Given the description of an element on the screen output the (x, y) to click on. 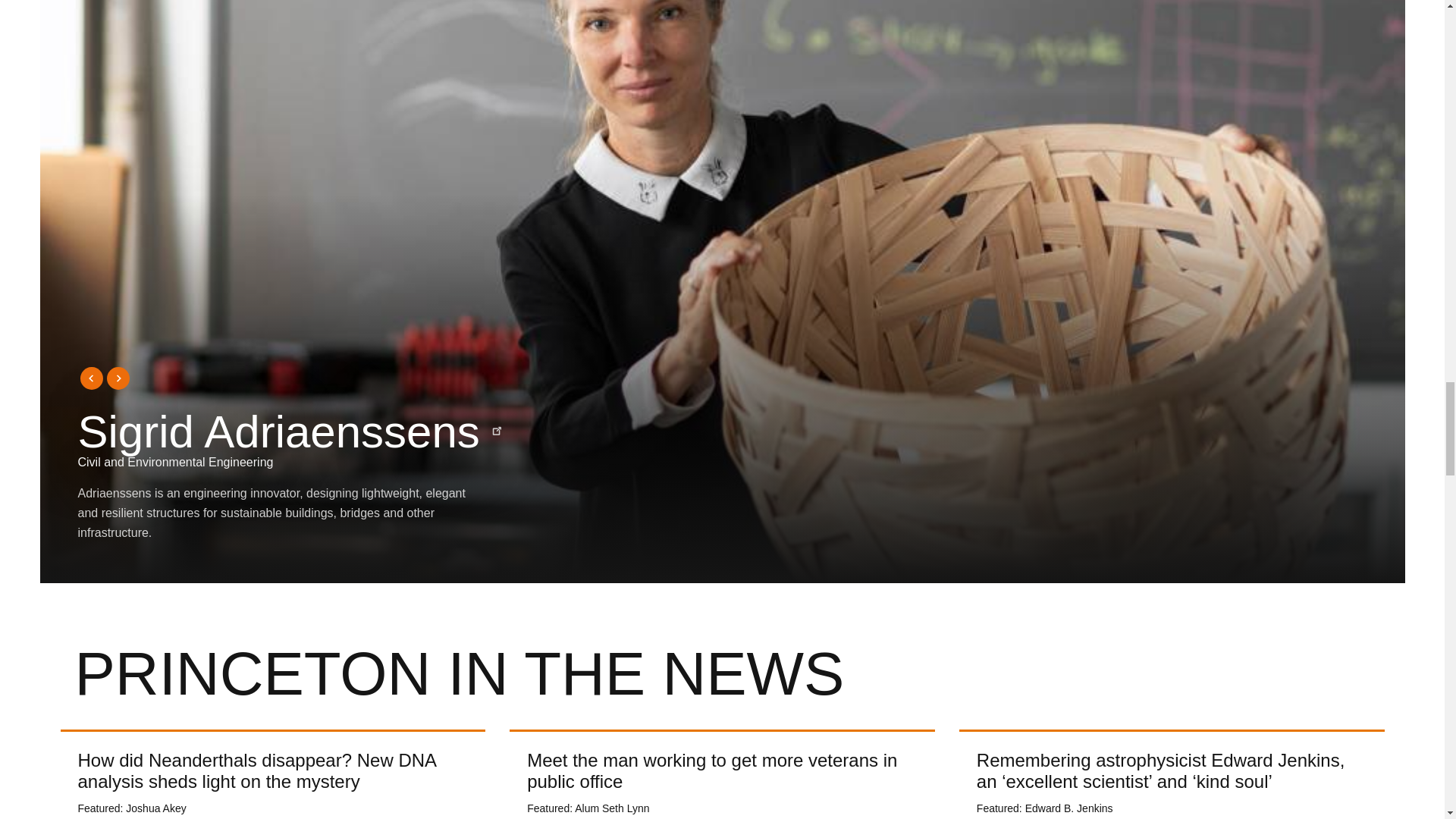
Previous (90, 377)
Sigrid Adriaenssens (290, 431)
Next (117, 377)
